Given the description of an element on the screen output the (x, y) to click on. 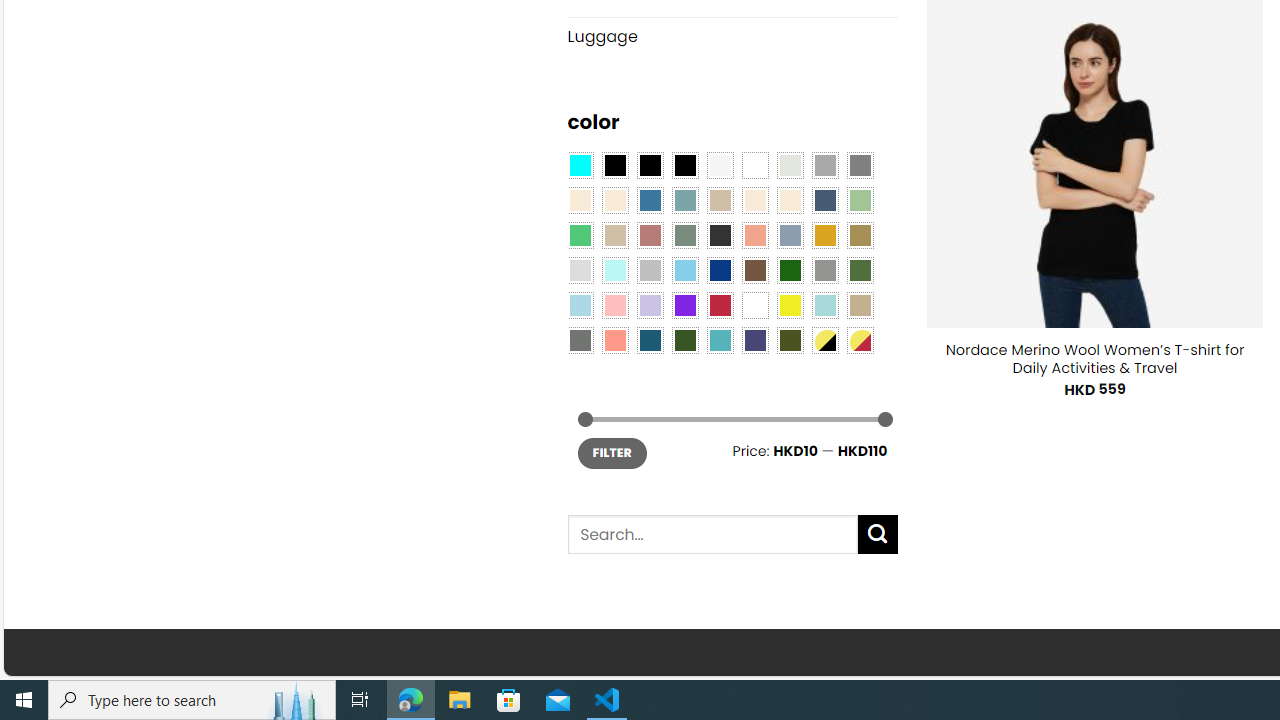
Black (650, 164)
Yellow-Red (859, 339)
Capri Blue (650, 339)
Purple Navy (755, 339)
Coral (755, 234)
Light Blue (579, 305)
Luggage (732, 36)
Hale Navy (824, 200)
Gray (824, 269)
Caramel (755, 200)
Mint (614, 269)
All Black (614, 164)
Dark Green (789, 269)
FILTER (612, 452)
